Given the description of an element on the screen output the (x, y) to click on. 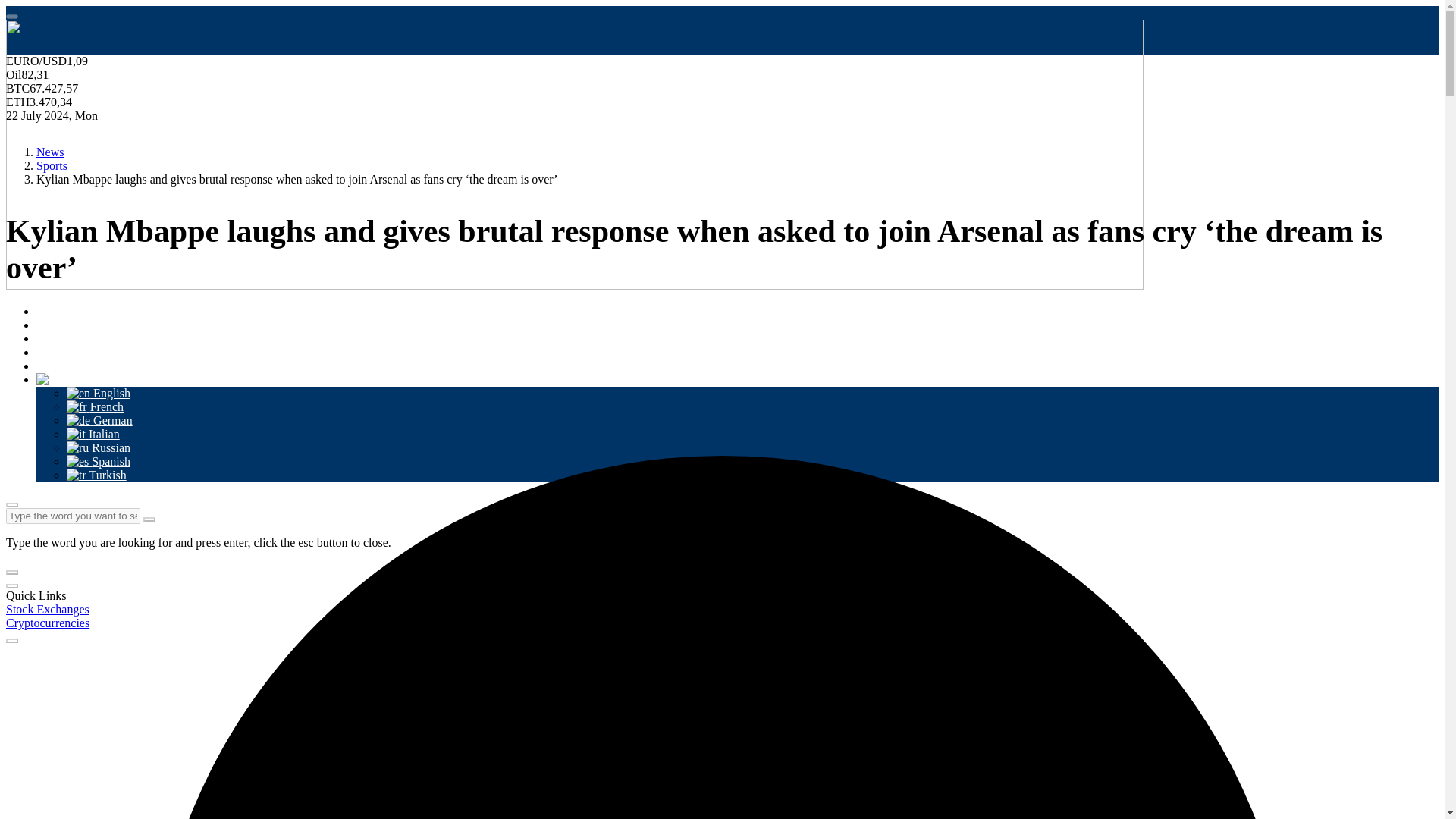
English (68, 371)
Russian (98, 439)
Sports (51, 164)
Turkish (96, 466)
News (50, 151)
Sports (51, 330)
Health (52, 344)
News (50, 316)
German (99, 412)
Home (50, 303)
English (98, 385)
Spanish (98, 452)
Italian (92, 425)
French (94, 398)
